Given the description of an element on the screen output the (x, y) to click on. 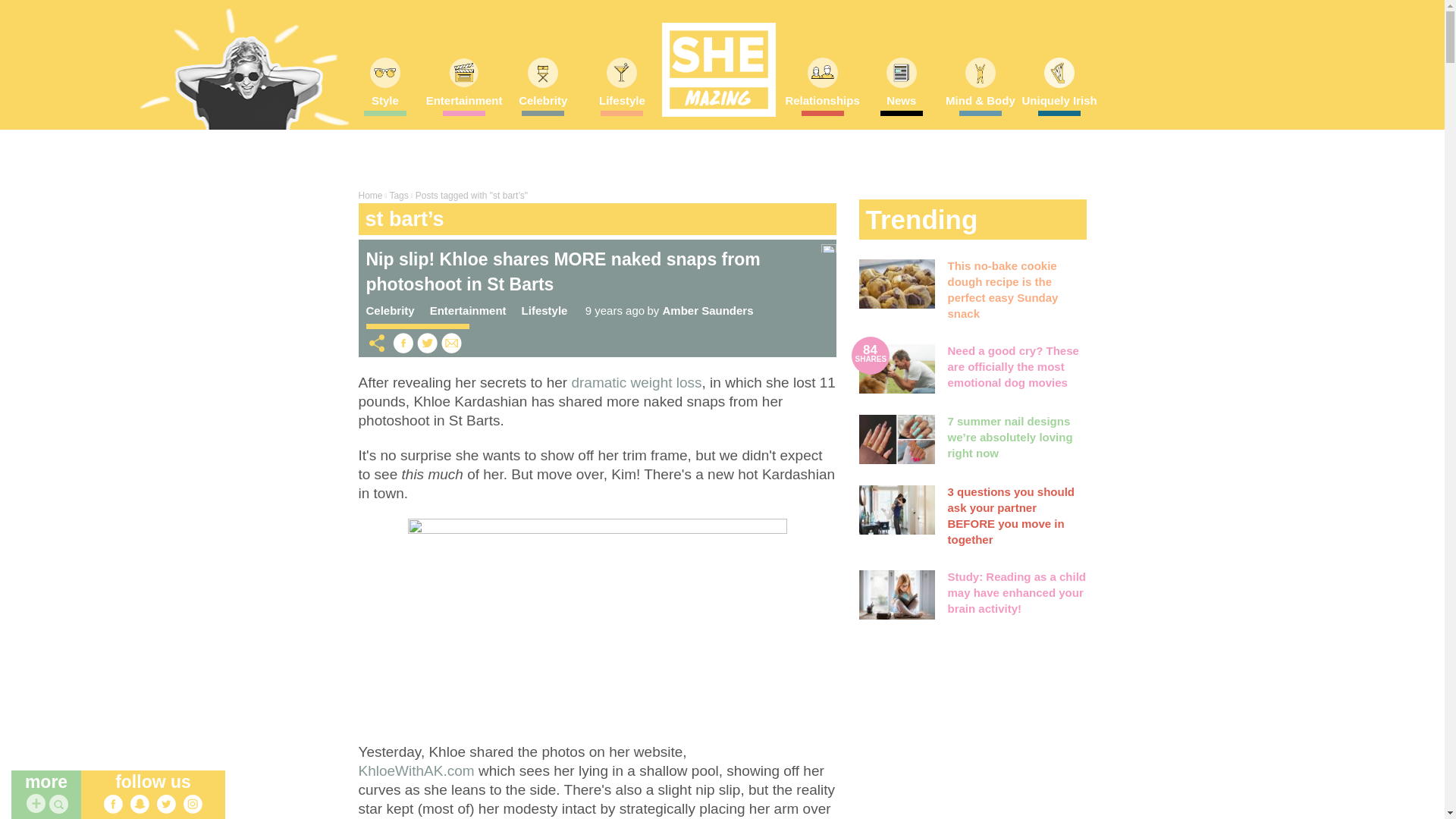
Entertainment (464, 104)
Celebrity (542, 104)
SHEmazing! (717, 69)
News (901, 104)
Relationships (822, 104)
Lifestyle (621, 104)
Style (385, 104)
